Given the description of an element on the screen output the (x, y) to click on. 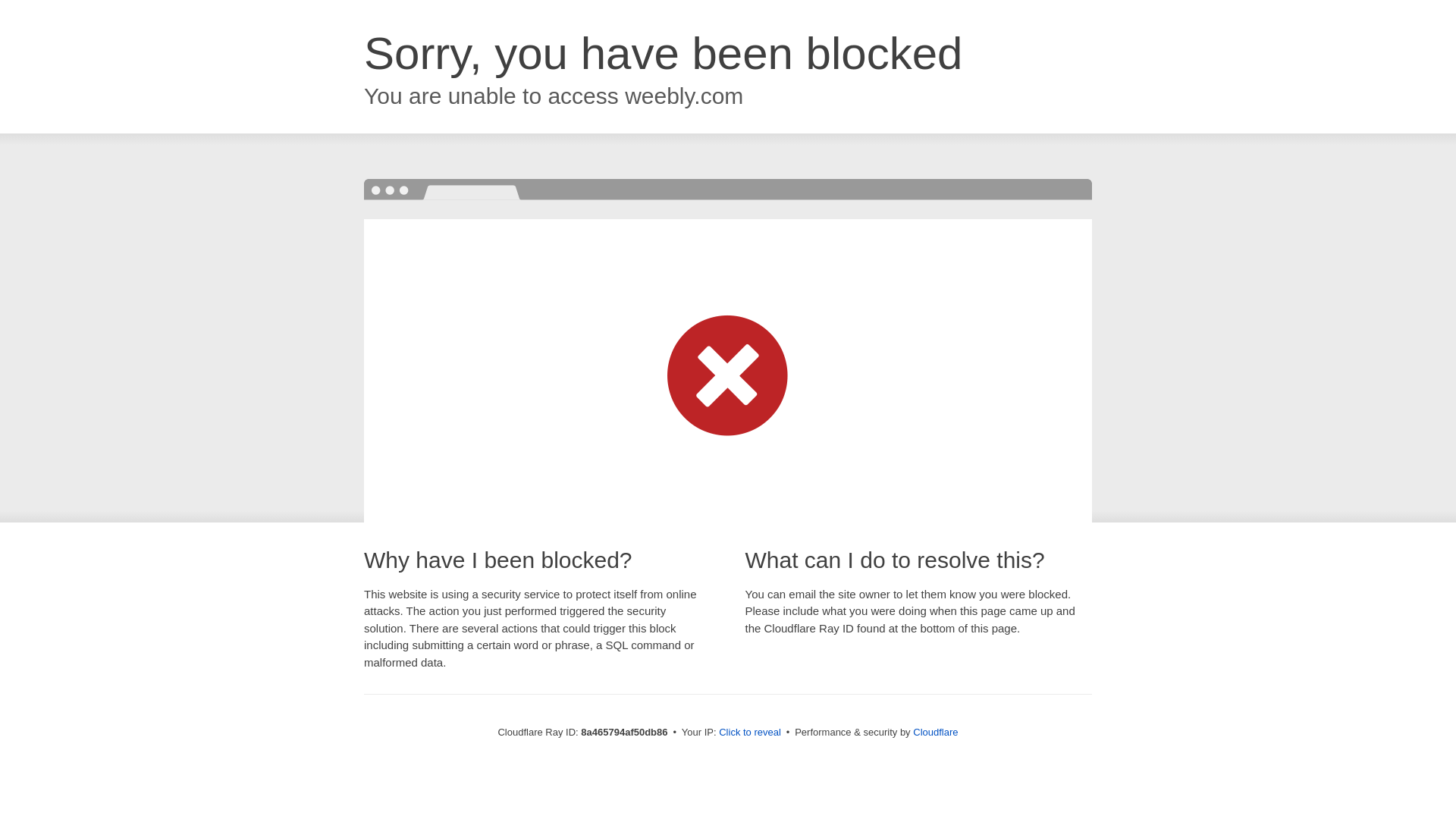
Cloudflare (935, 731)
Click to reveal (749, 732)
